Given the description of an element on the screen output the (x, y) to click on. 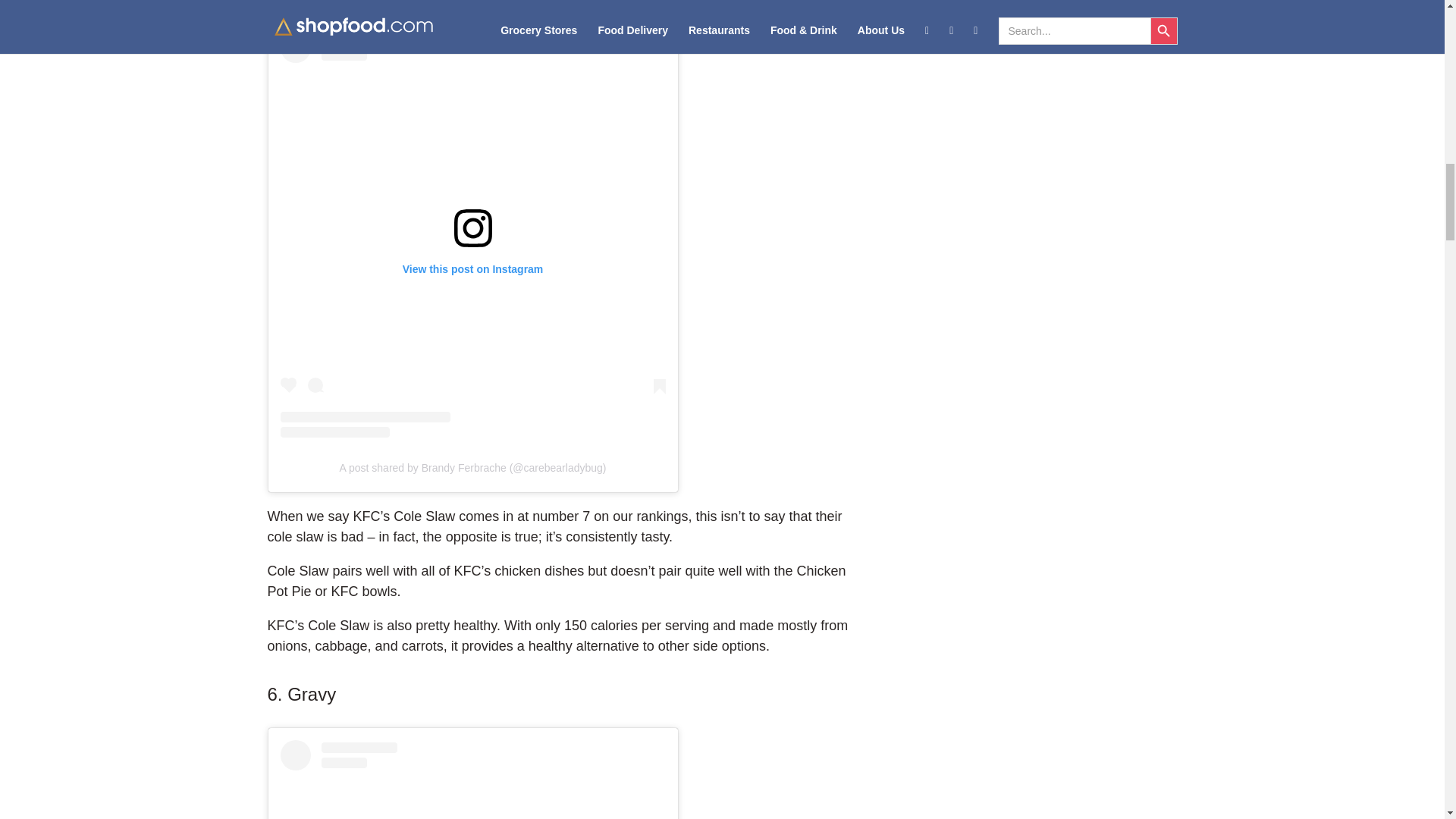
View this post on Instagram (473, 779)
